Given the description of an element on the screen output the (x, y) to click on. 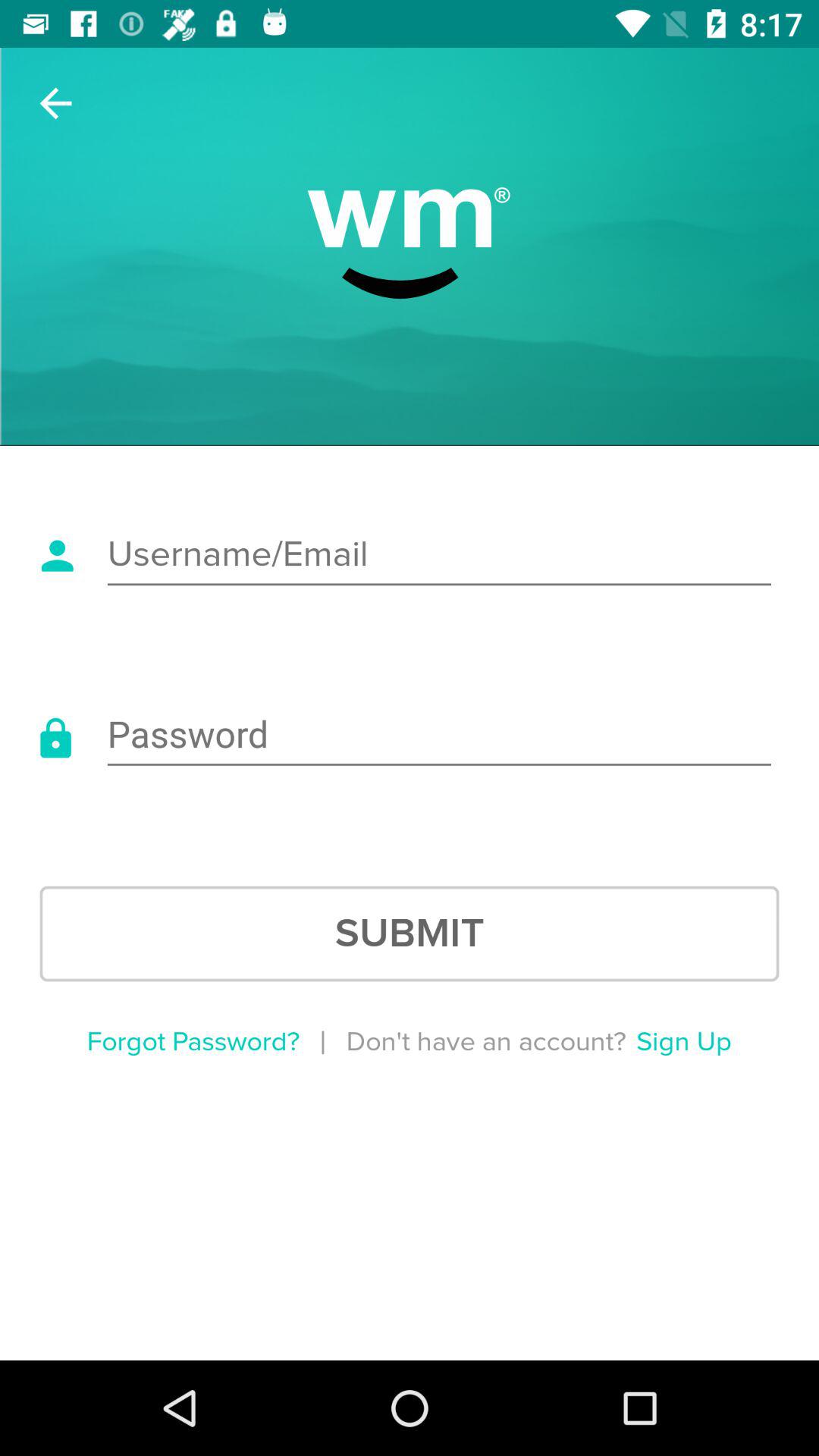
press the item below submit (193, 1042)
